Given the description of an element on the screen output the (x, y) to click on. 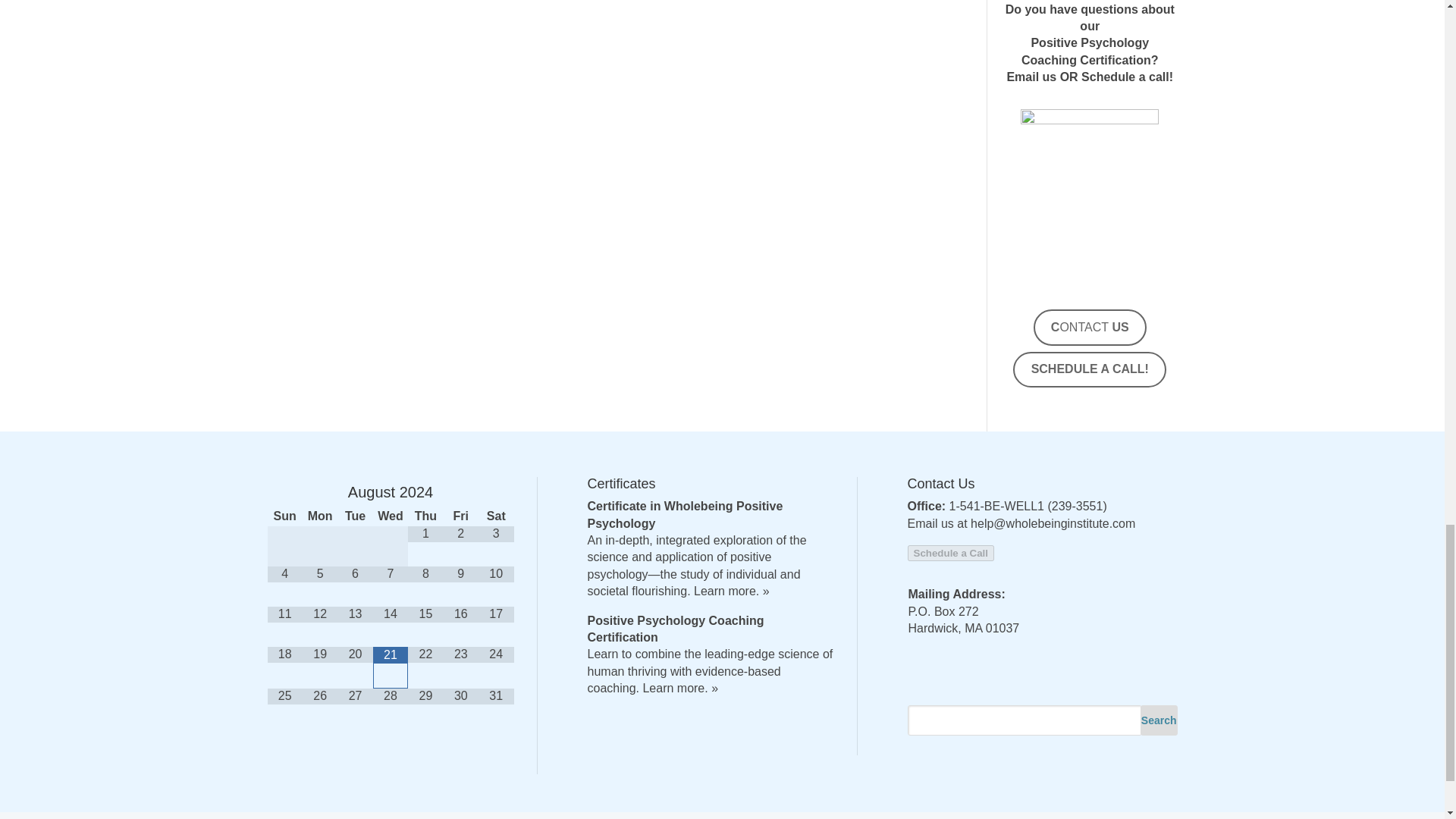
Positive Psychology Coaching Certification (674, 628)
Search (1158, 720)
Schedule a Call (950, 553)
Certificate in Wholebeing Positive Psychology (684, 514)
Schedule a Call (950, 552)
SCHEDULE A CALL! (1089, 370)
CONTACT US (1090, 327)
Search (1158, 720)
